Given the description of an element on the screen output the (x, y) to click on. 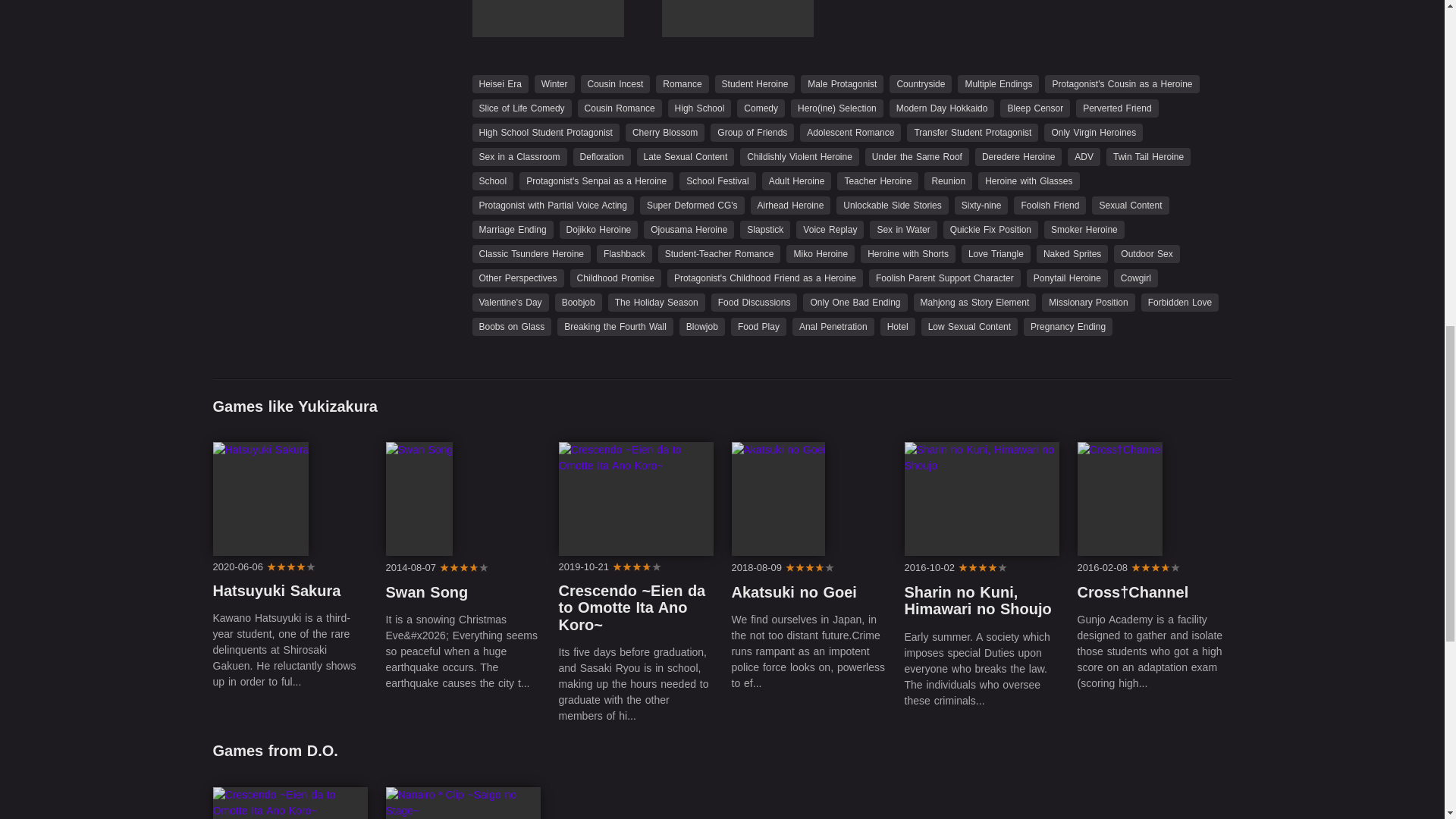
Heisei Era (499, 83)
Cousin Incest (615, 83)
High School (700, 107)
Slice of Life Comedy (520, 107)
Student Heroine (754, 83)
Countryside (920, 83)
Protagonist's Cousin as a Heroine (1121, 83)
Cousin Romance (620, 107)
Multiple Endings (998, 83)
Yukizakura screenshot (736, 18)
